Given the description of an element on the screen output the (x, y) to click on. 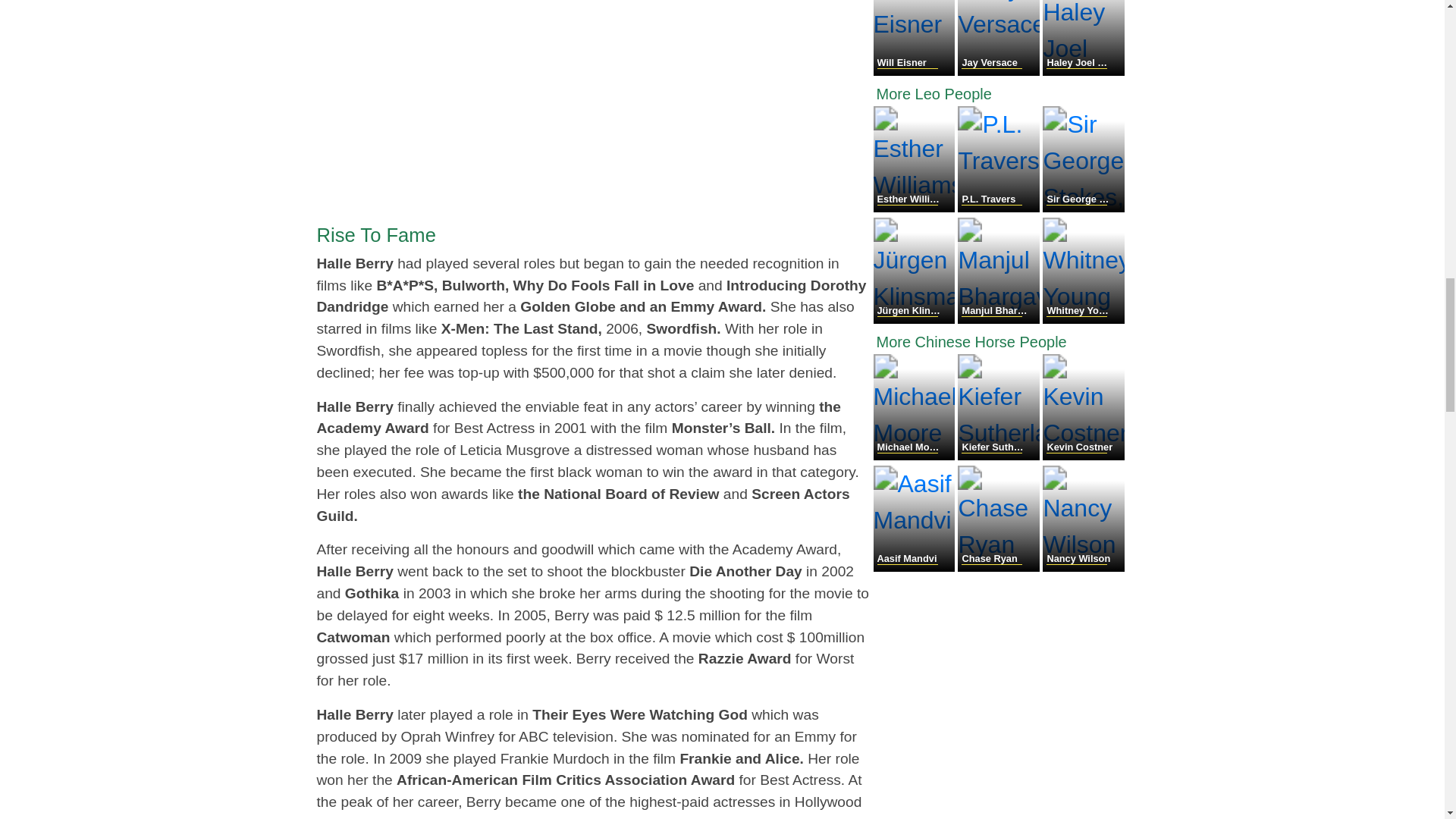
Haley Joel Osment (1083, 71)
Esther Williams (915, 207)
Jay Versace (1000, 71)
P.L. Travers (1000, 207)
Will Eisner (915, 71)
